Given the description of an element on the screen output the (x, y) to click on. 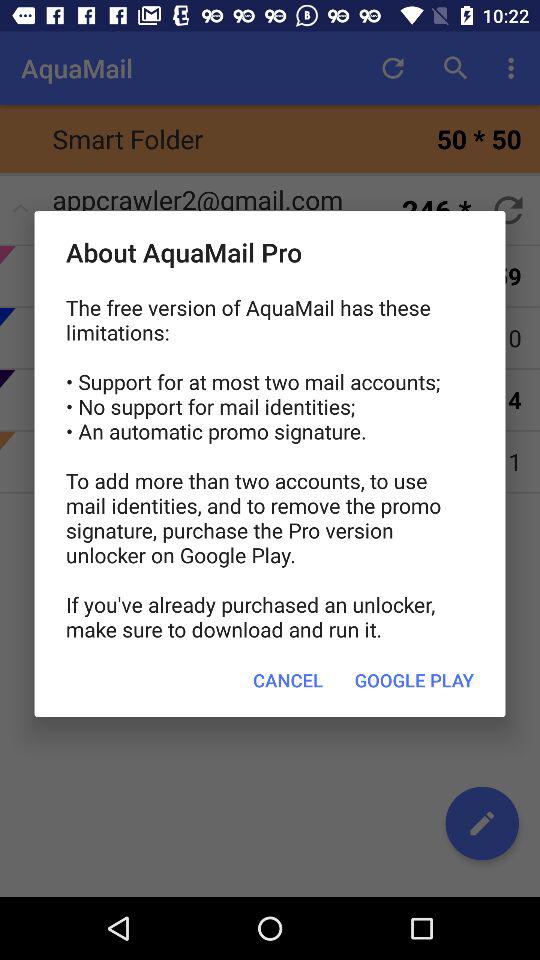
click button to the right of the cancel (413, 679)
